Given the description of an element on the screen output the (x, y) to click on. 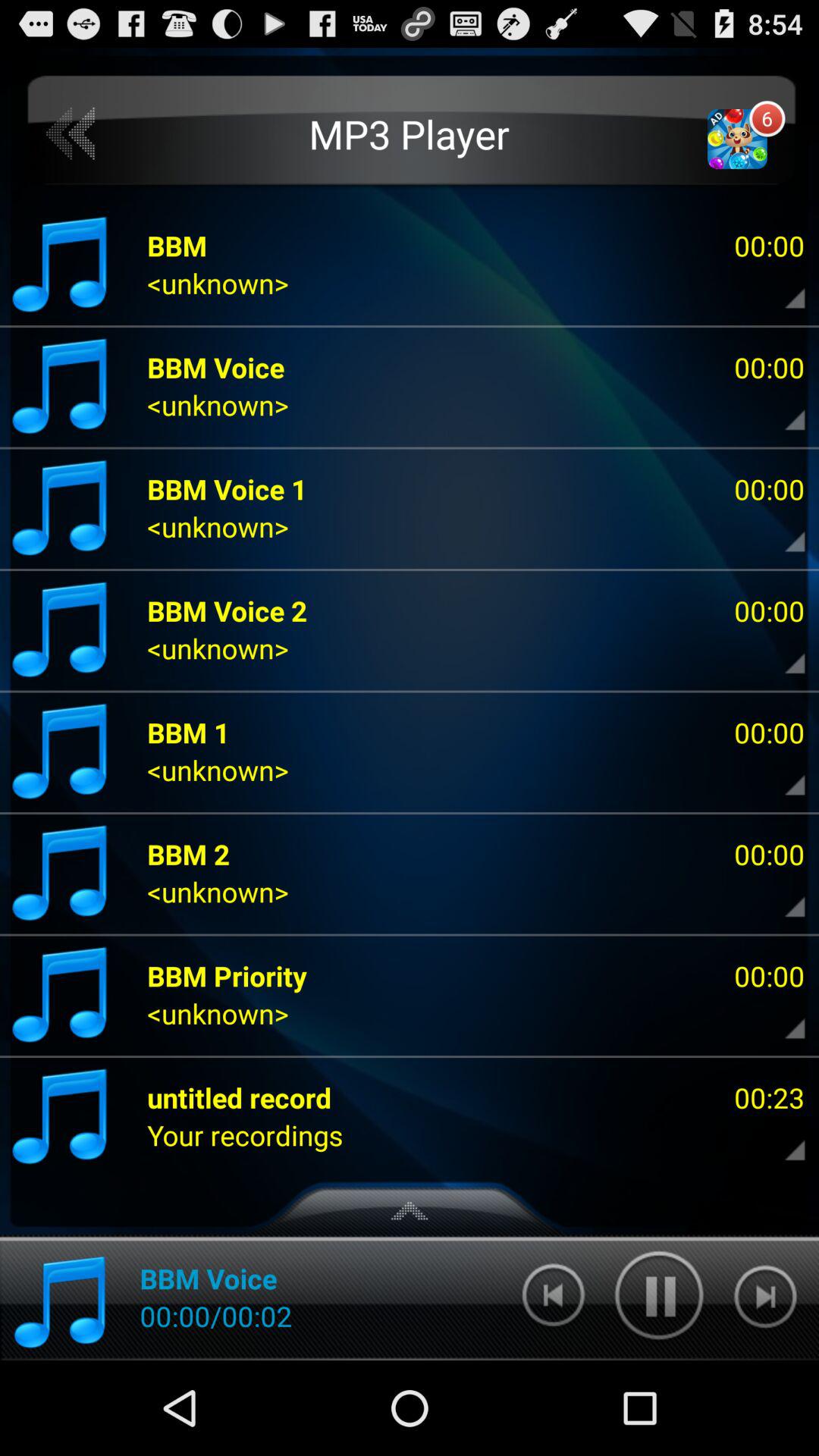
click the item below untitled record icon (244, 1134)
